Given the description of an element on the screen output the (x, y) to click on. 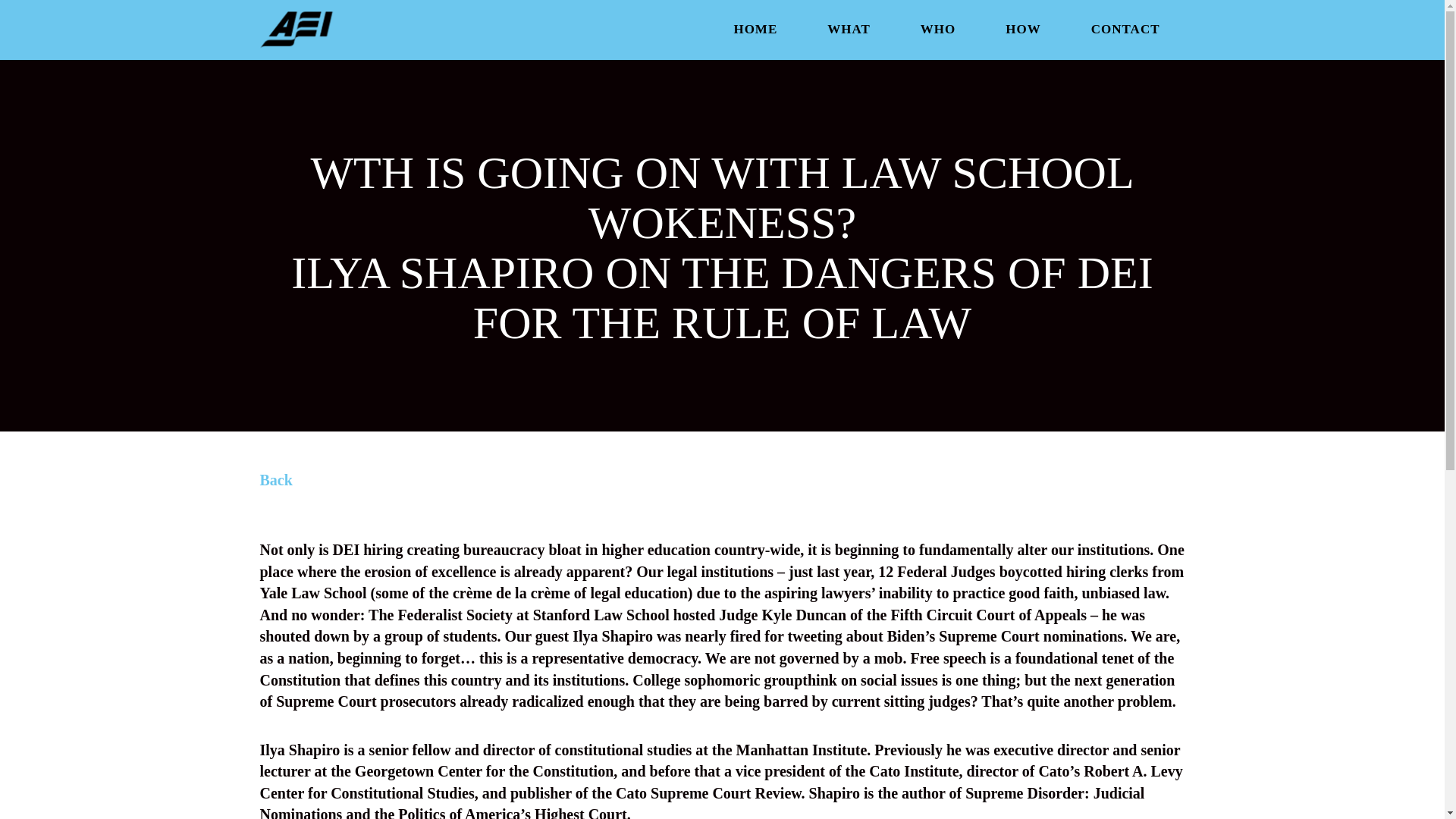
WHO (937, 29)
CONTACT (1126, 29)
HOW (1022, 29)
WHAT (849, 29)
Back (275, 479)
HOME (755, 29)
